Given the description of an element on the screen output the (x, y) to click on. 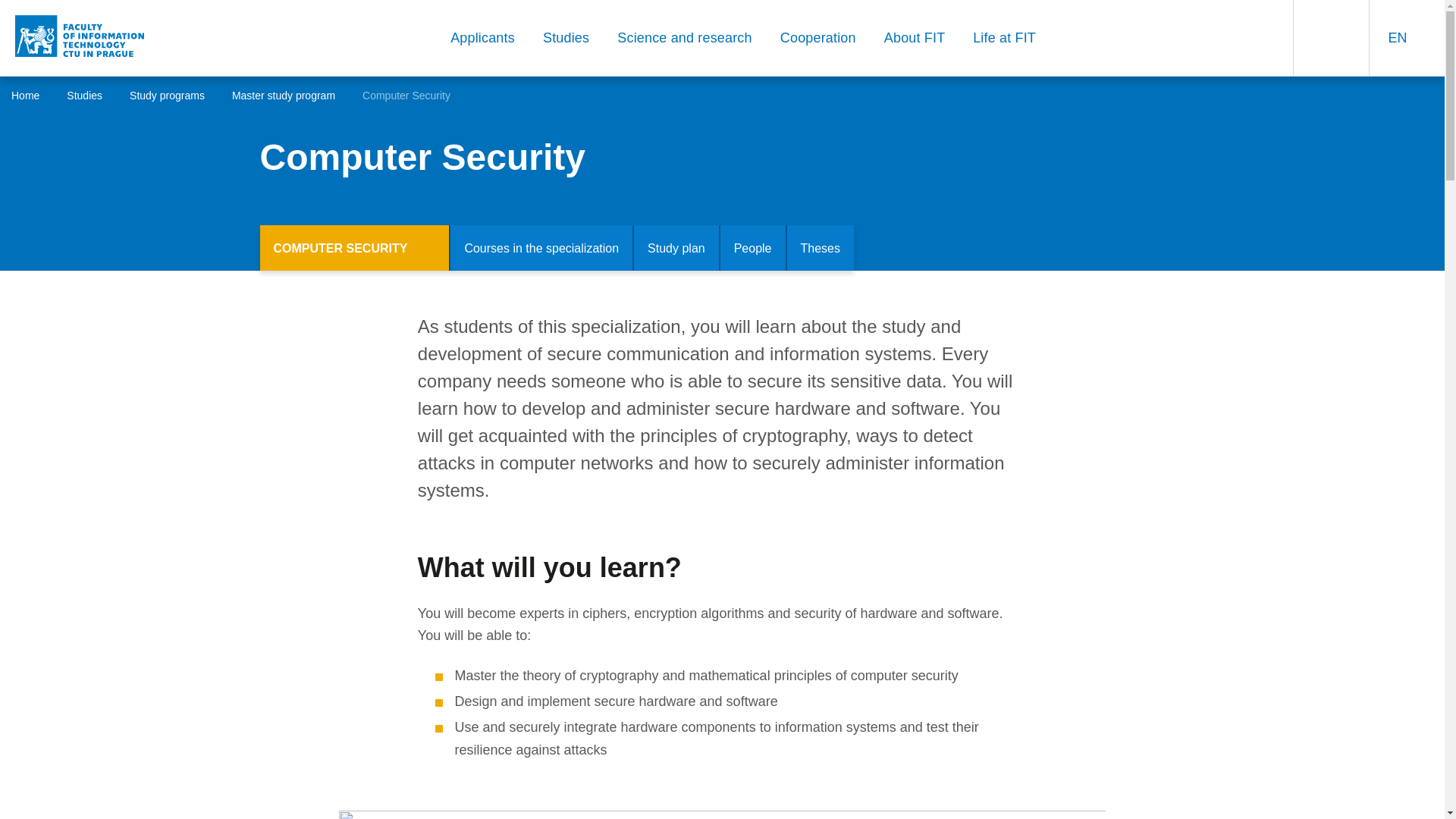
Science and research (693, 38)
Applicants (491, 38)
Applicants (491, 38)
Cooperation (827, 38)
